Given the description of an element on the screen output the (x, y) to click on. 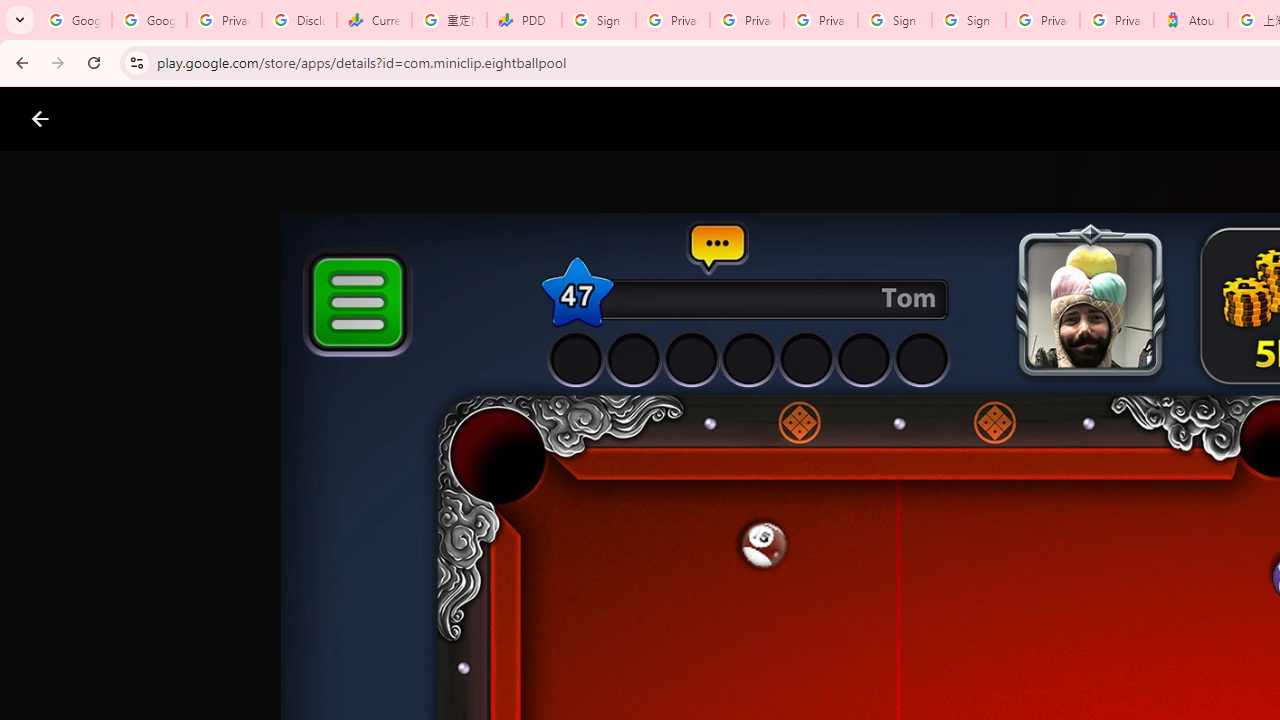
Google Play logo (111, 119)
Miniclip.com (680, 586)
PDD Holdings Inc - ADR (PDD) Price & News - Google Finance (523, 20)
Privacy Checkup (747, 20)
Sign in - Google Accounts (894, 20)
Content rating (973, 656)
Currencies - Google Finance (374, 20)
